Given the description of an element on the screen output the (x, y) to click on. 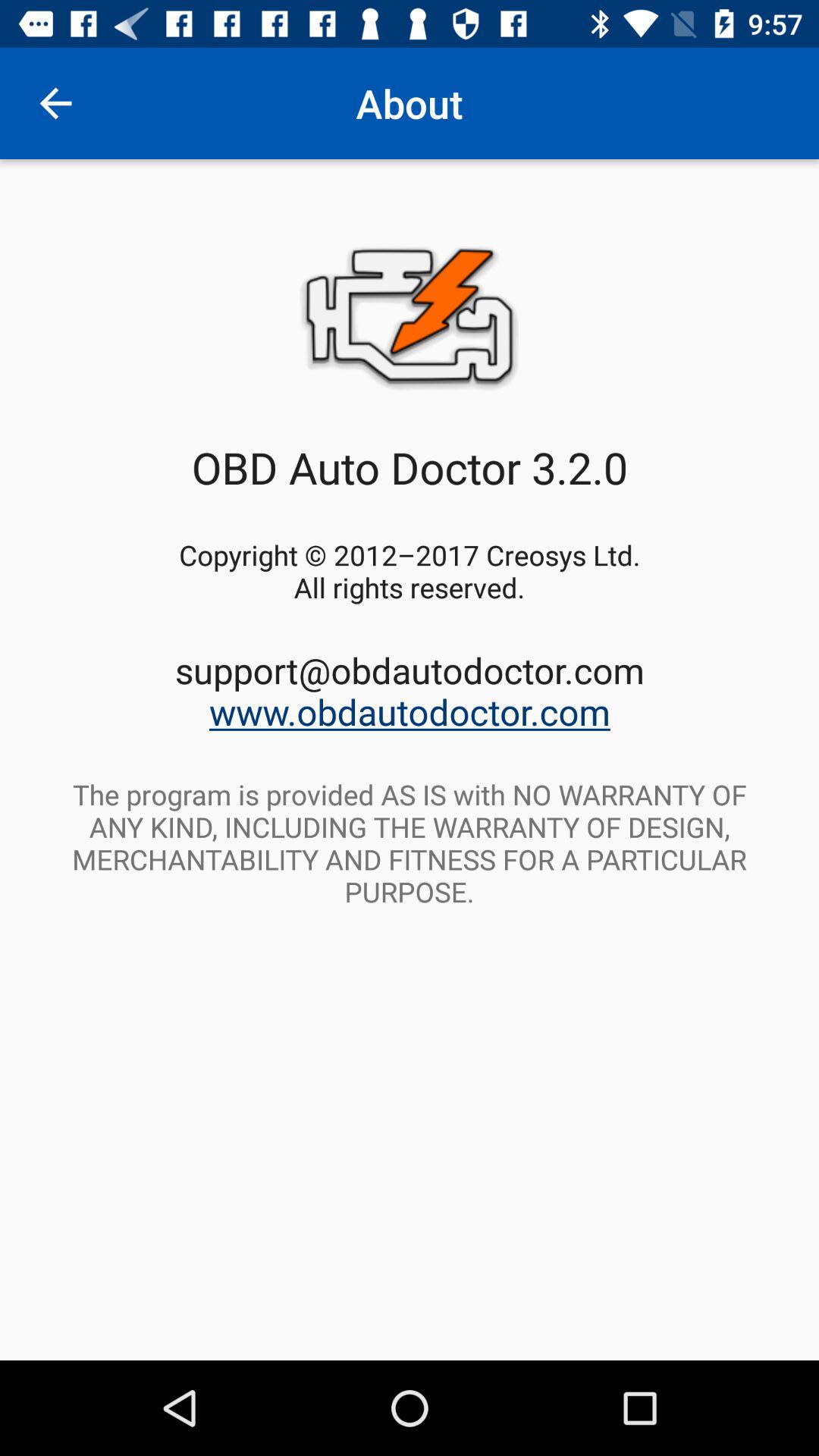
press item above the the program is (409, 690)
